Given the description of an element on the screen output the (x, y) to click on. 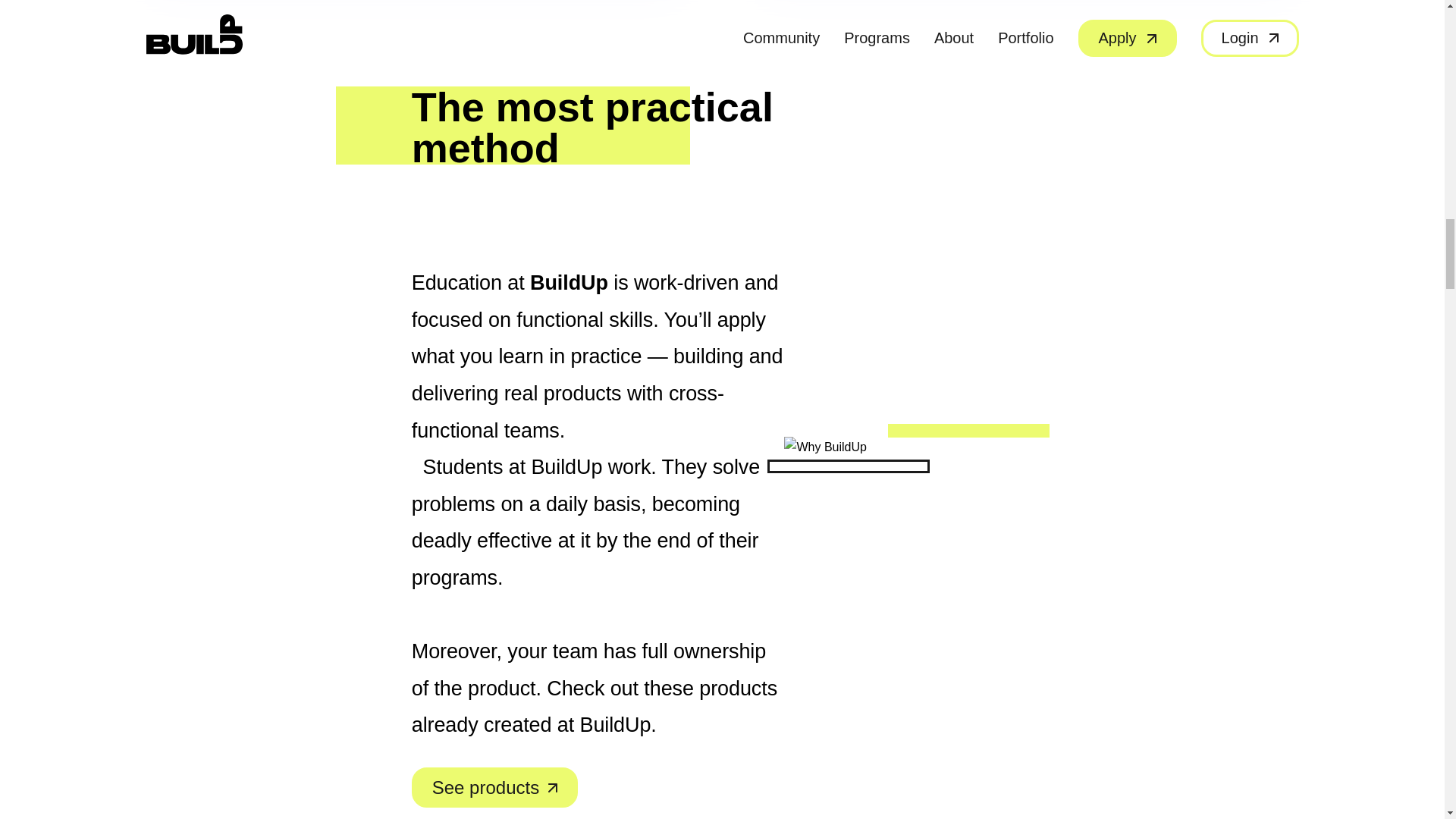
See products (495, 787)
